Given the description of an element on the screen output the (x, y) to click on. 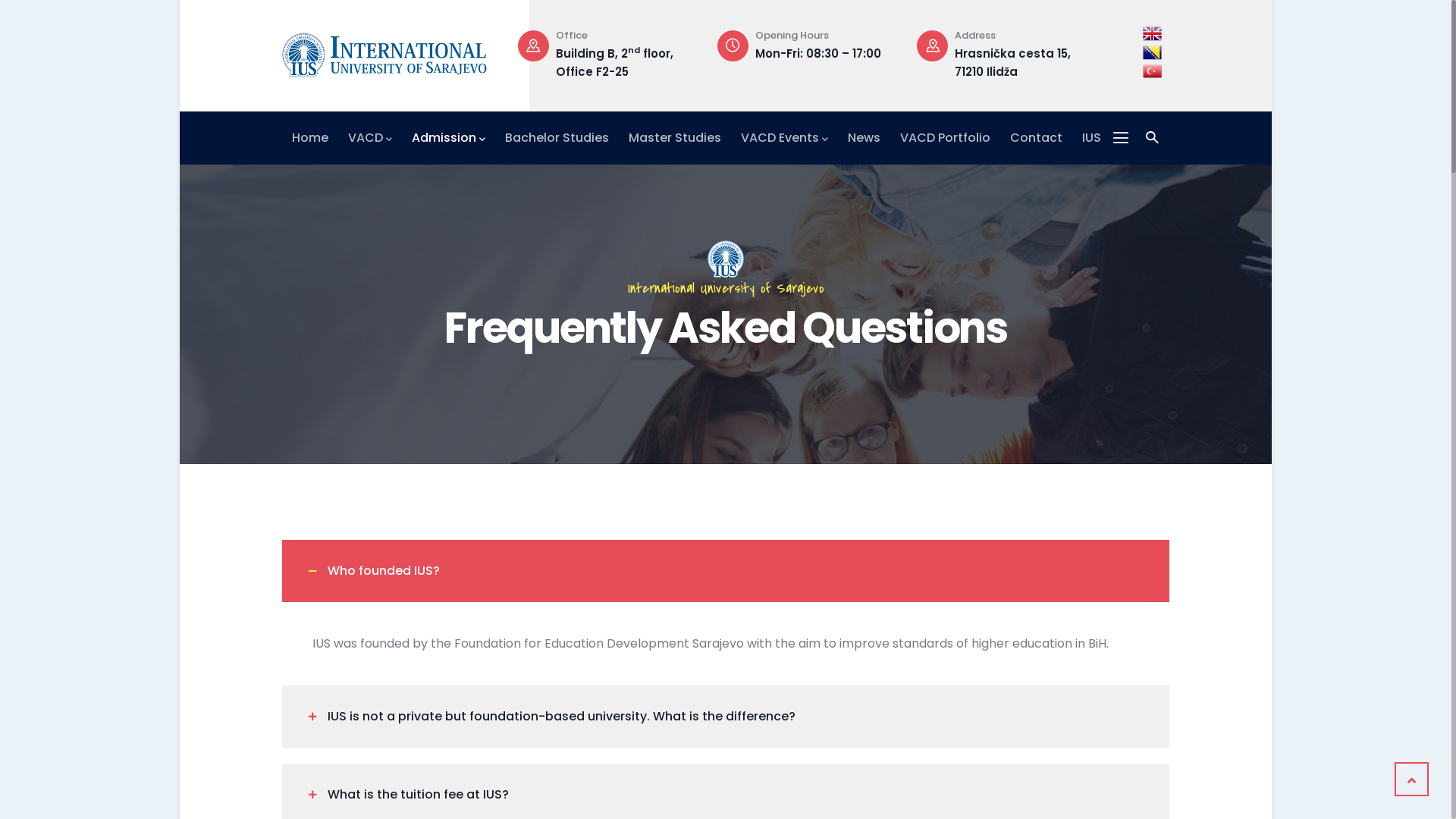
IUS Element type: text (1091, 137)
Who founded IUS? Element type: text (725, 570)
VACD Events Element type: text (784, 137)
Bosnian Element type: hover (1151, 52)
+387 33 957 300 Element type: text (602, 53)
Master Studies Element type: text (674, 137)
Engleski Element type: hover (1151, 33)
Home Element type: text (309, 137)
News Element type: text (863, 137)
Contact Element type: text (1036, 137)
Admission Element type: text (448, 137)
Turkish Element type: hover (1151, 71)
Bachelor Studies Element type: text (556, 137)
Skip to main content Element type: text (179, 0)
VACD Element type: text (370, 137)
VACD Portfolio Element type: text (945, 137)
Home Element type: hover (384, 51)
